Given the description of an element on the screen output the (x, y) to click on. 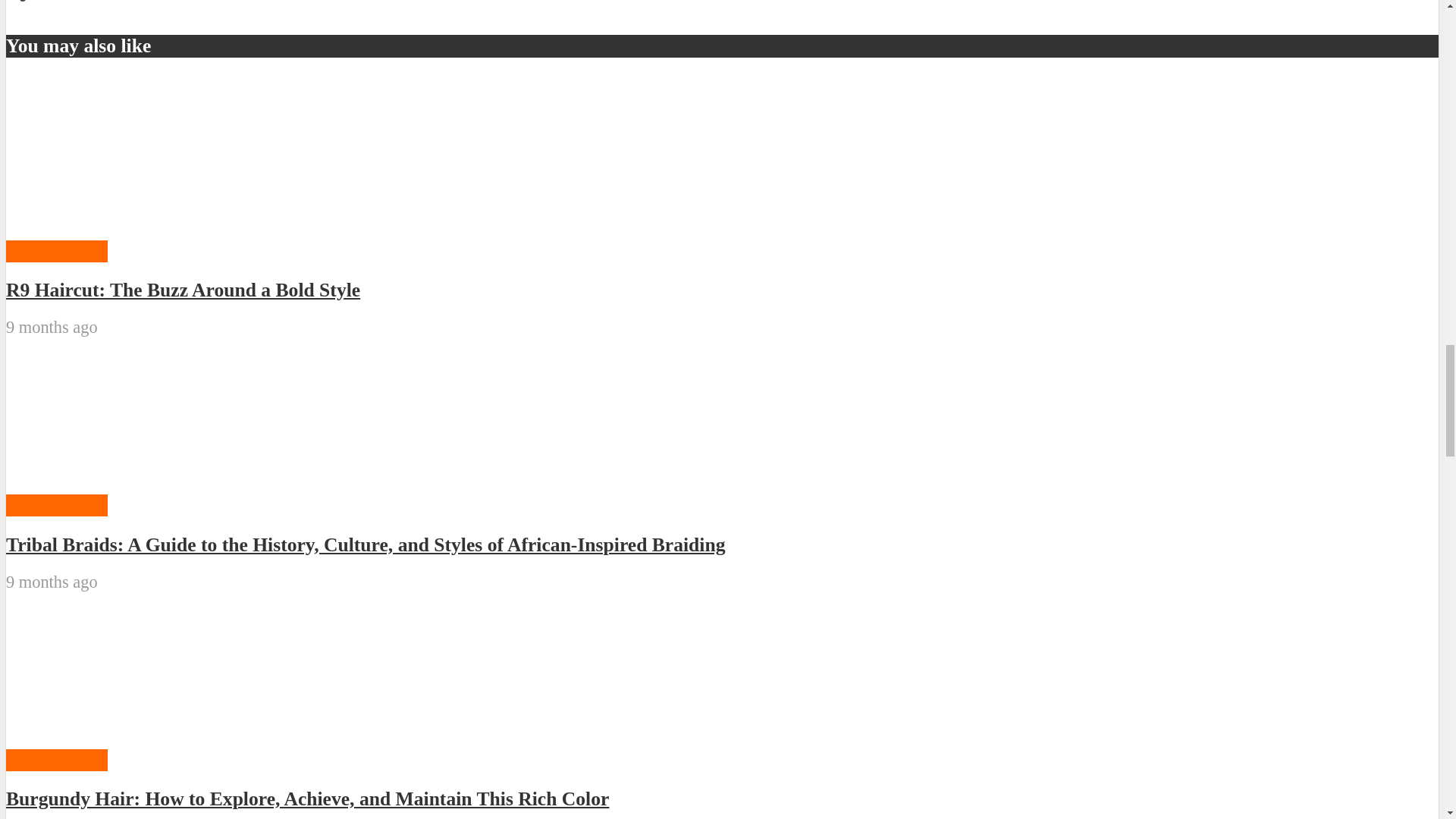
R9 Haircut: The Buzz Around a Bold Style (118, 159)
R9 Haircut: The Buzz Around a Bold Style (118, 228)
